Given the description of an element on the screen output the (x, y) to click on. 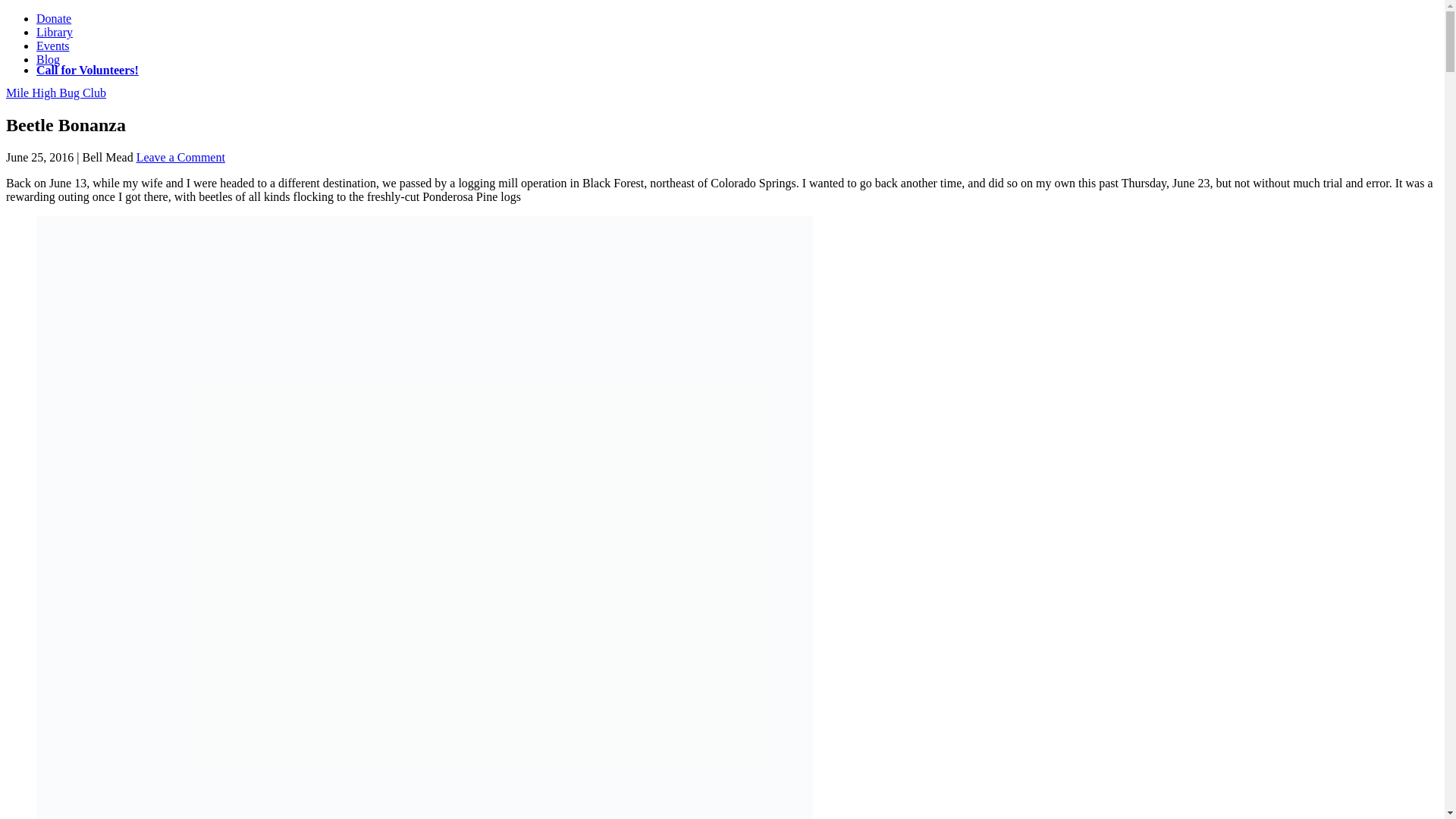
Events (52, 45)
Library (54, 31)
Mile High Bug Club (55, 92)
Donate (53, 18)
Call for Volunteers! (87, 69)
Blog (47, 59)
Leave a Comment (180, 156)
